Given the description of an element on the screen output the (x, y) to click on. 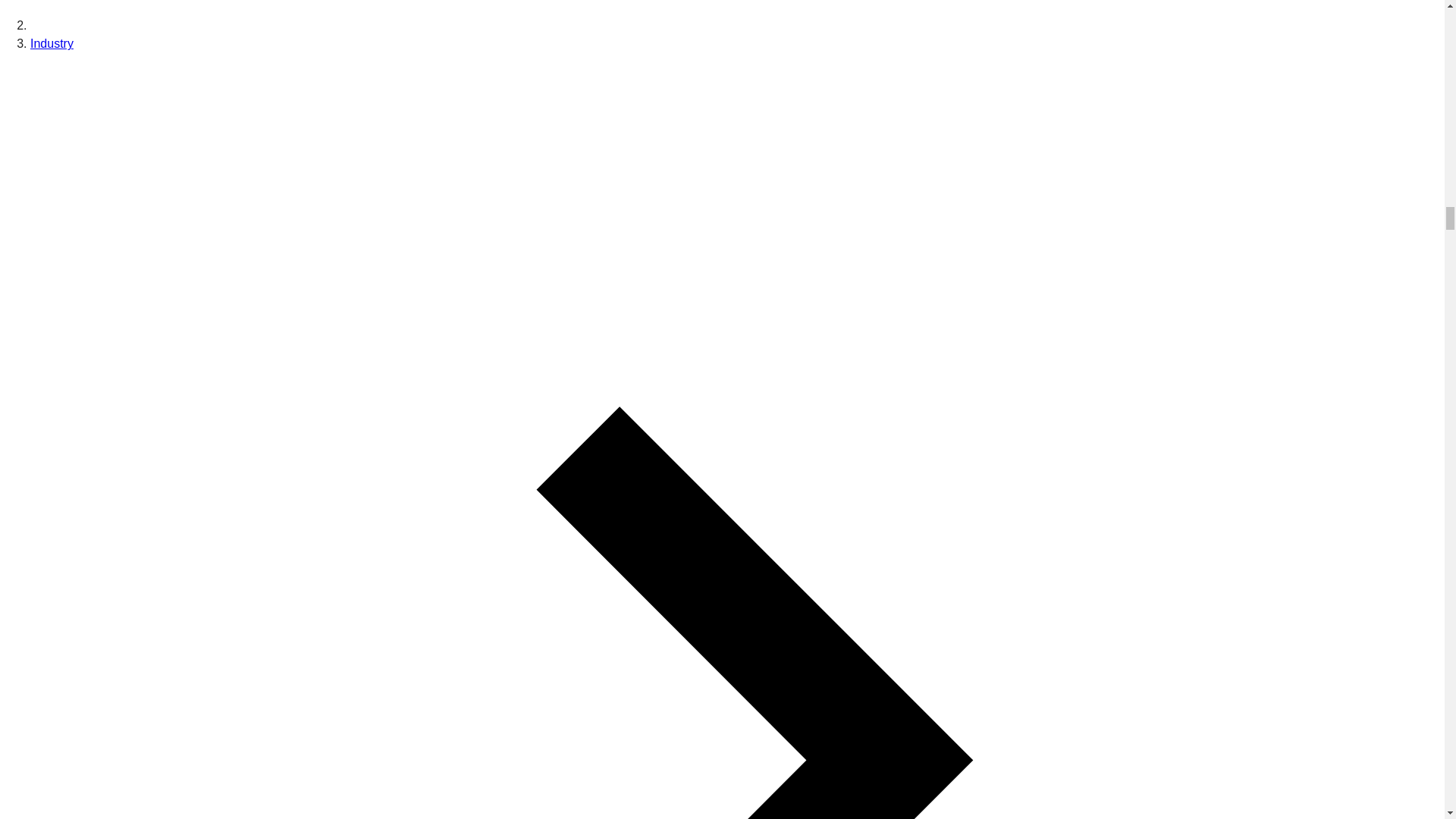
Industry (52, 42)
